Given the description of an element on the screen output the (x, y) to click on. 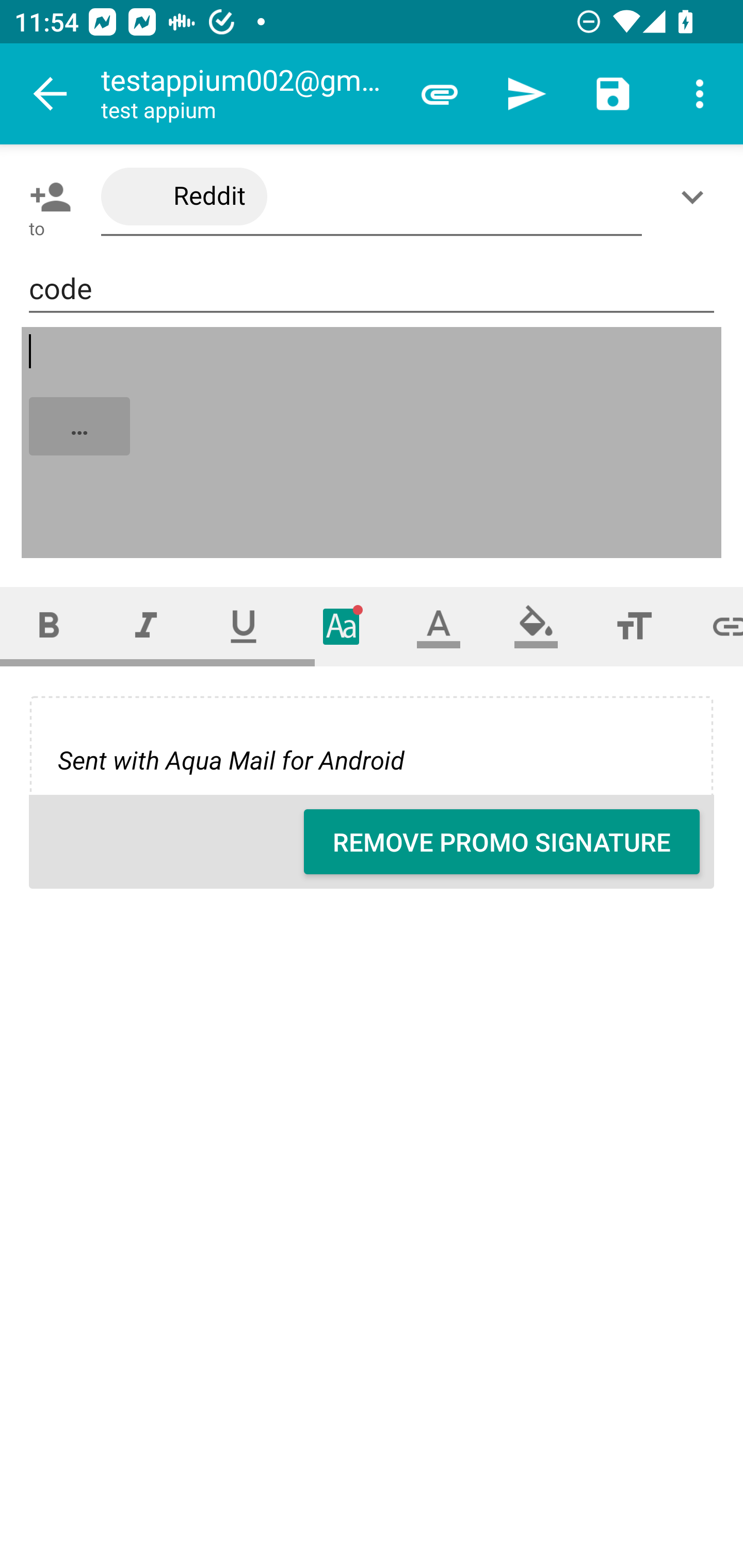
Navigate up (50, 93)
testappium002@gmail.com test appium (248, 93)
Attach (439, 93)
Send (525, 93)
Save (612, 93)
More options (699, 93)
Reddit <noreply@redditmail.com>,  (371, 197)
Pick contact: To (46, 196)
Show/Add CC/BCC (696, 196)
code (371, 288)

…
 (372, 442)
Bold (48, 626)
Italic (145, 626)
Underline (243, 626)
Typeface (font) (341, 626)
Text color (438, 626)
Fill color (536, 626)
Font size (633, 626)
REMOVE PROMO SIGNATURE (501, 841)
